Given the description of an element on the screen output the (x, y) to click on. 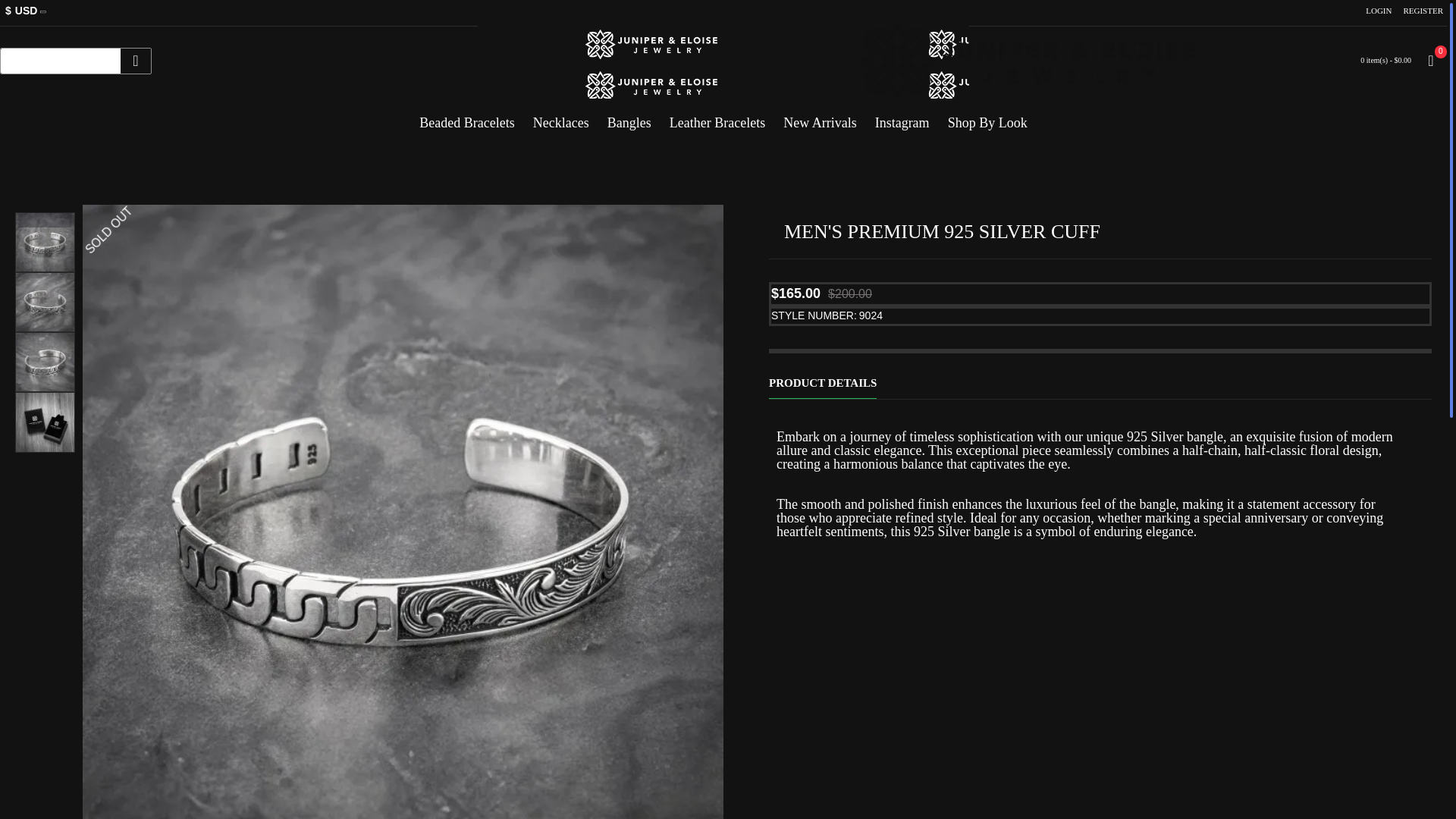
Men's Premium 925 Silver Cuff (44, 301)
Men's Premium 925 Silver Cuff (44, 362)
LOGIN (1377, 11)
Beaded Bracelets (466, 117)
Instagram (902, 117)
Shop By Look (987, 117)
Men's Premium 925 Silver Cuff (44, 422)
Necklaces (561, 117)
REGISTER (1423, 11)
Bangles (629, 117)
New Arrivals (819, 117)
Men's Premium 925 Silver Cuff (44, 241)
Leather Bracelets (717, 117)
PRODUCT DETAILS (822, 375)
